Given the description of an element on the screen output the (x, y) to click on. 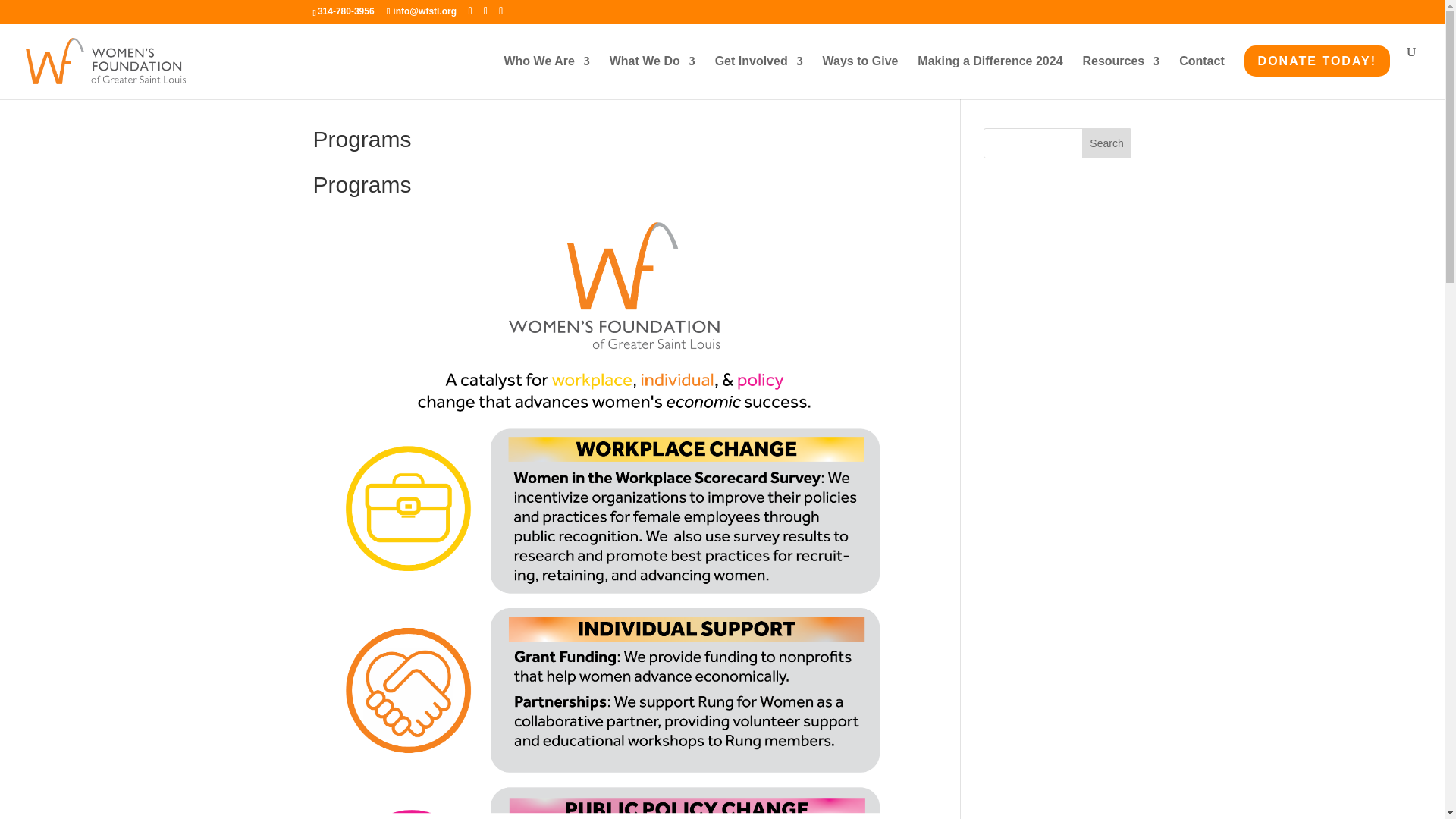
Ways to Give (860, 72)
Making a Difference 2024 (989, 72)
Resources (1119, 72)
DONATE TODAY! (1317, 72)
What We Do (652, 72)
Get Involved (758, 72)
Search (1106, 142)
Contact (1201, 72)
Who We Are (546, 72)
